Given the description of an element on the screen output the (x, y) to click on. 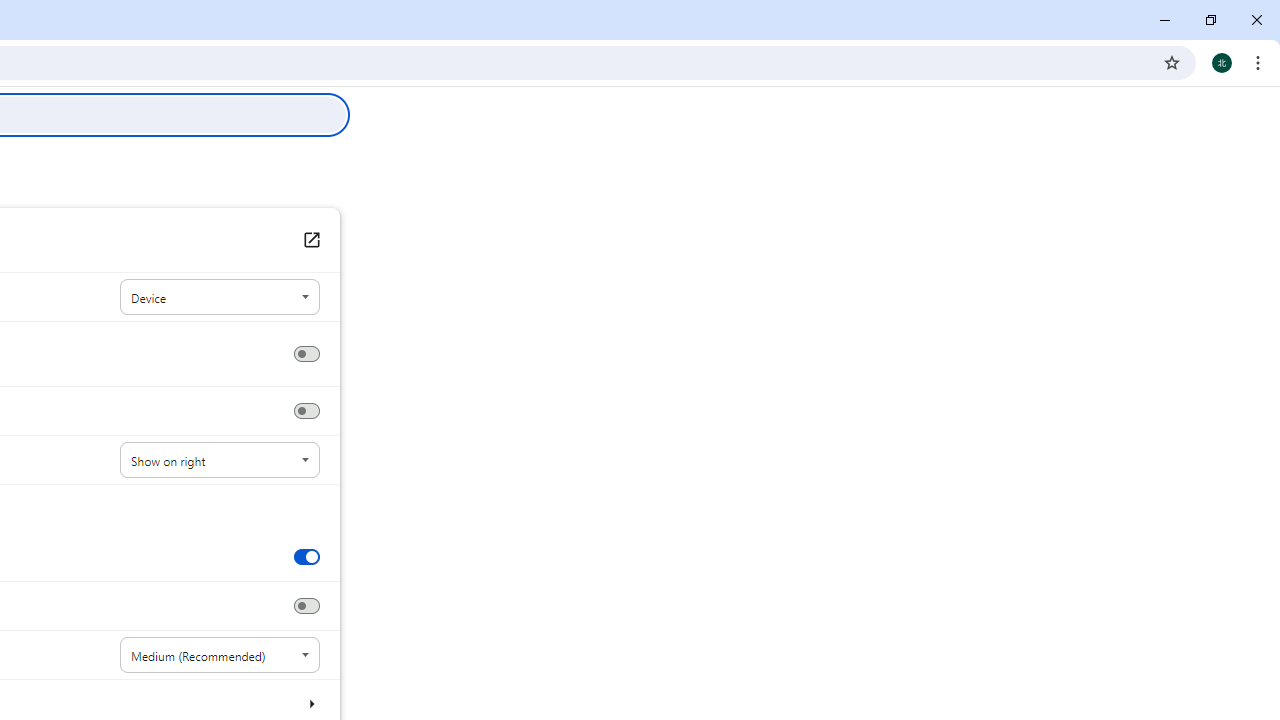
Show bookmarks bar (306, 411)
Font size (219, 655)
Side panel position (219, 460)
Show tab preview images (306, 556)
Mode (219, 297)
Customize fonts (310, 703)
Theme Open Chrome Web Store (310, 240)
Show tab memory usage (306, 606)
Show home button (306, 354)
